Given the description of an element on the screen output the (x, y) to click on. 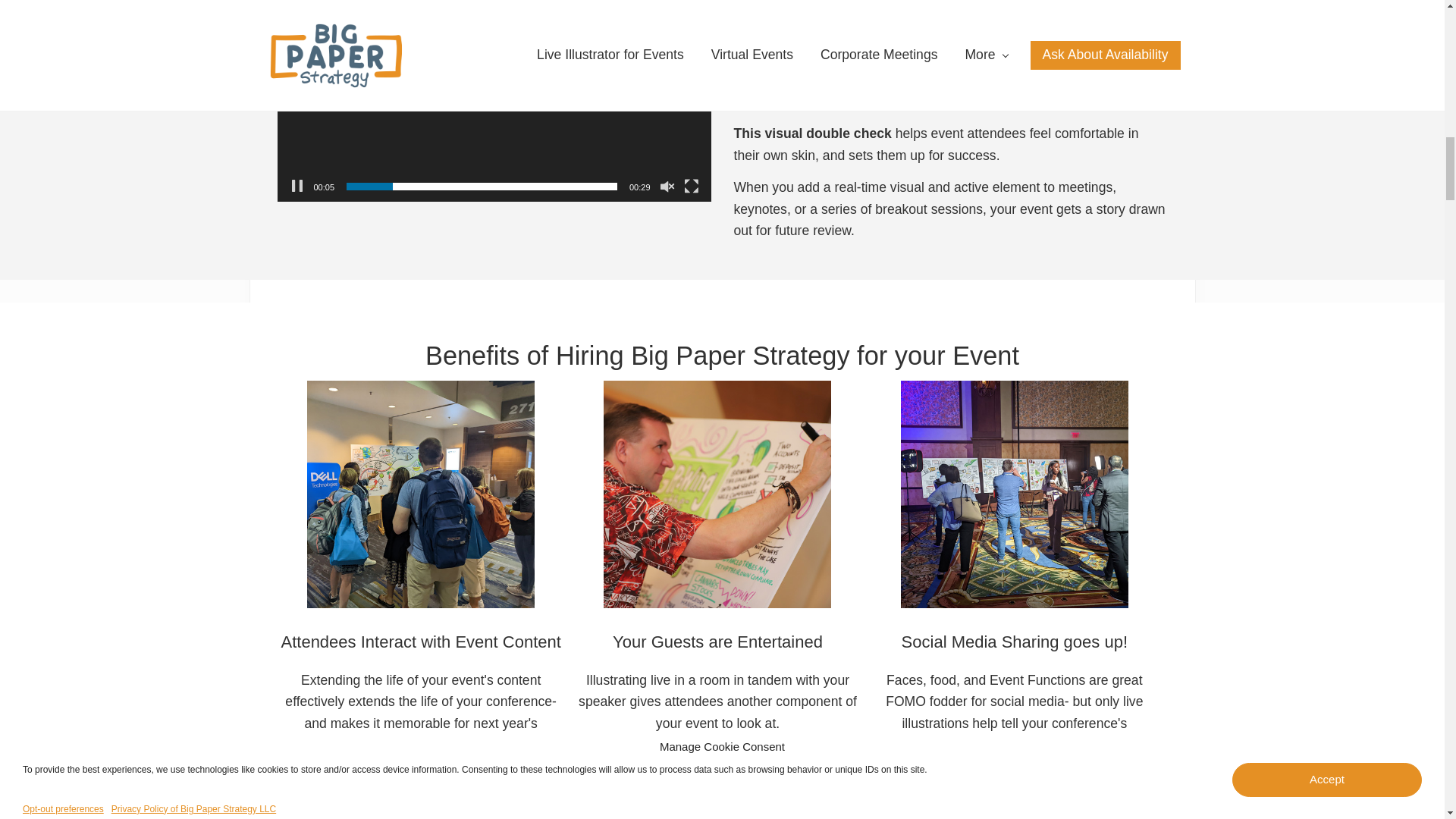
Fullscreen (691, 186)
Unmute (667, 186)
Entertaining Event Attendees with Live Illustration (717, 494)
Photo of Attendees Looking at Live Illustration (420, 494)
Pause (296, 186)
Some of Our Live Illustration Clients! (722, 808)
